Given the description of an element on the screen output the (x, y) to click on. 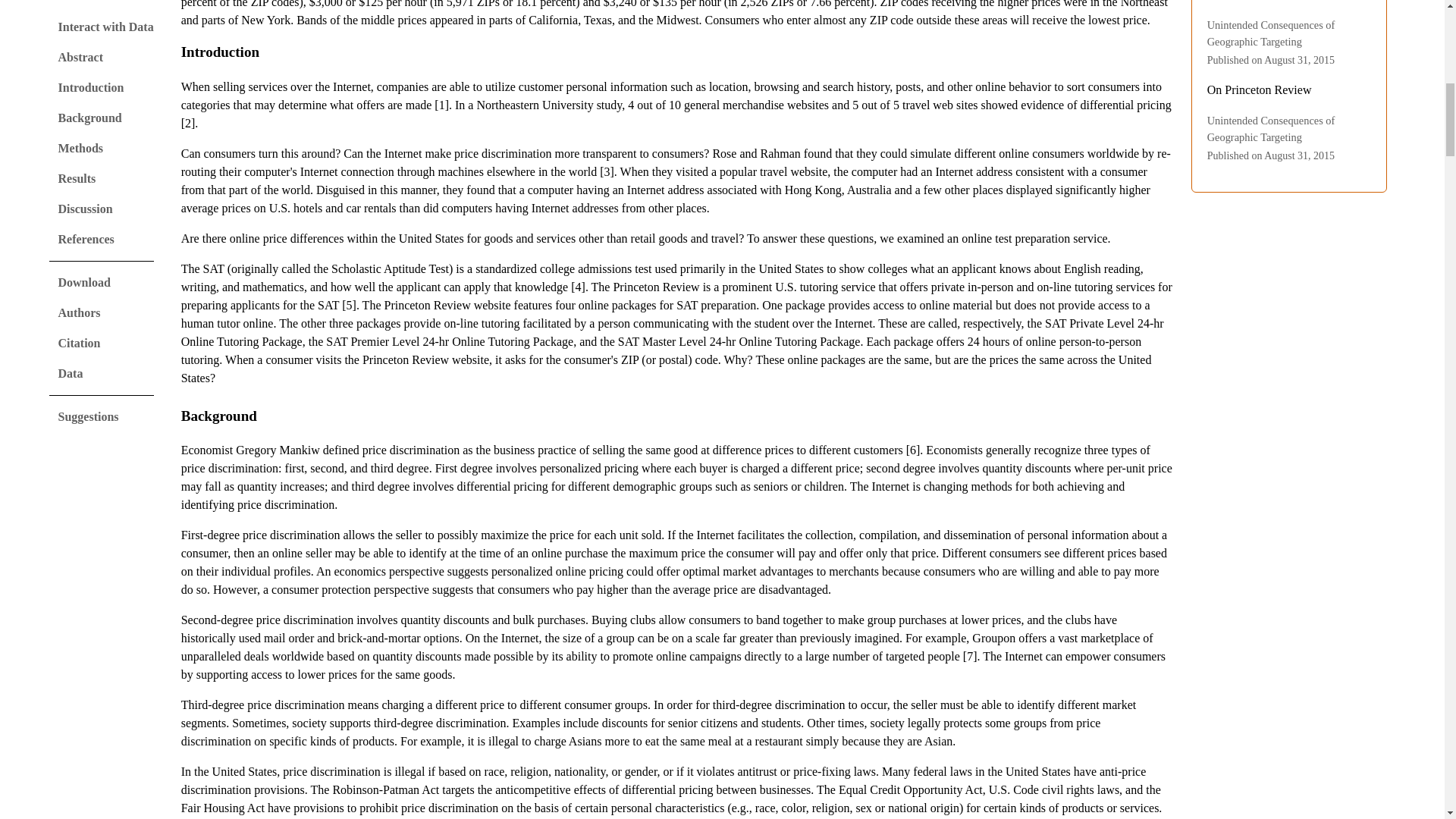
Unintended Consequences of Geographic Targeting (1271, 32)
